Given the description of an element on the screen output the (x, y) to click on. 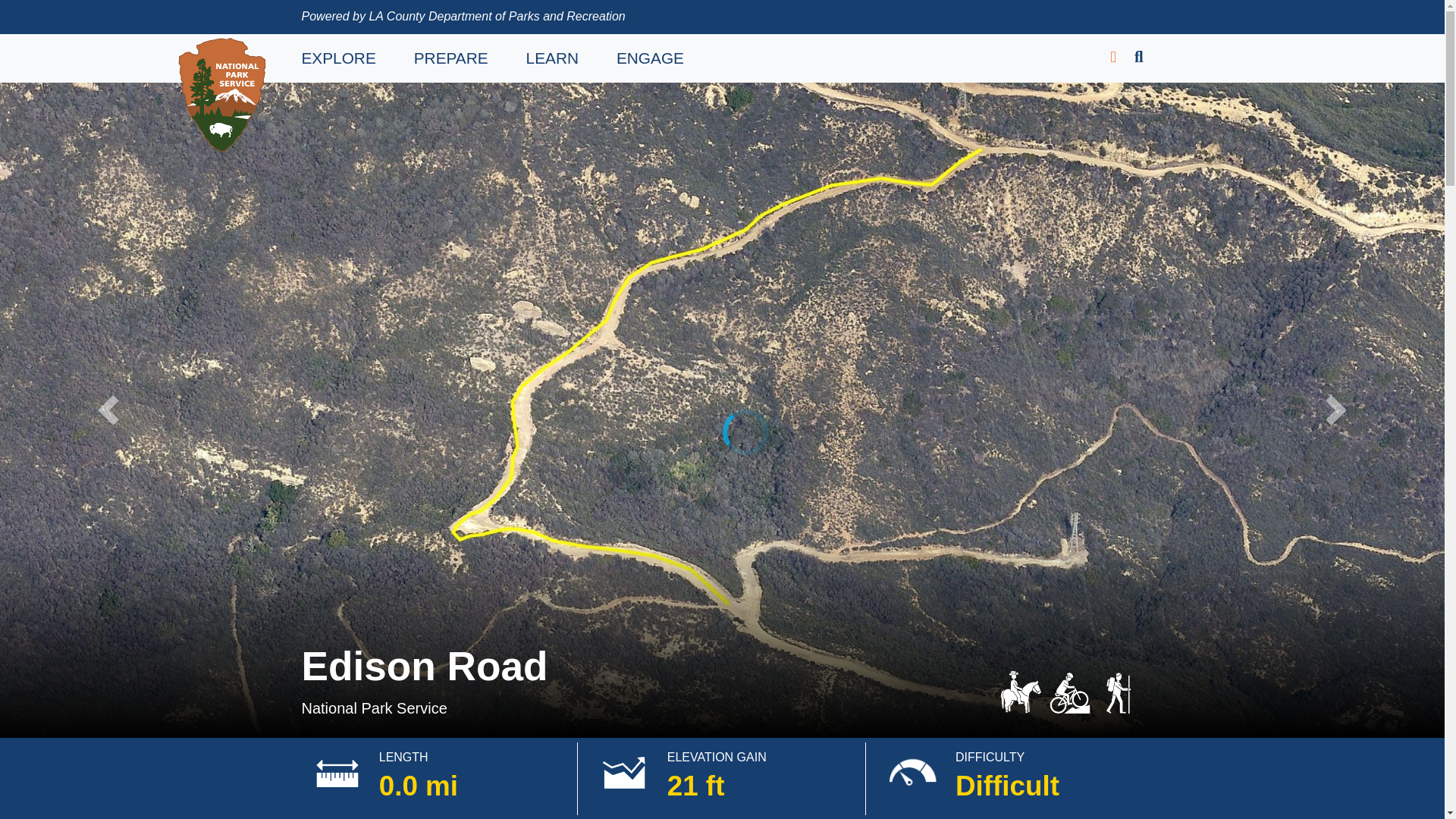
Powered by LA County Department of Parks and Recreation (463, 15)
LEARN (551, 58)
EXPLORE (338, 58)
ENGAGE (649, 58)
PREPARE (450, 58)
